Given the description of an element on the screen output the (x, y) to click on. 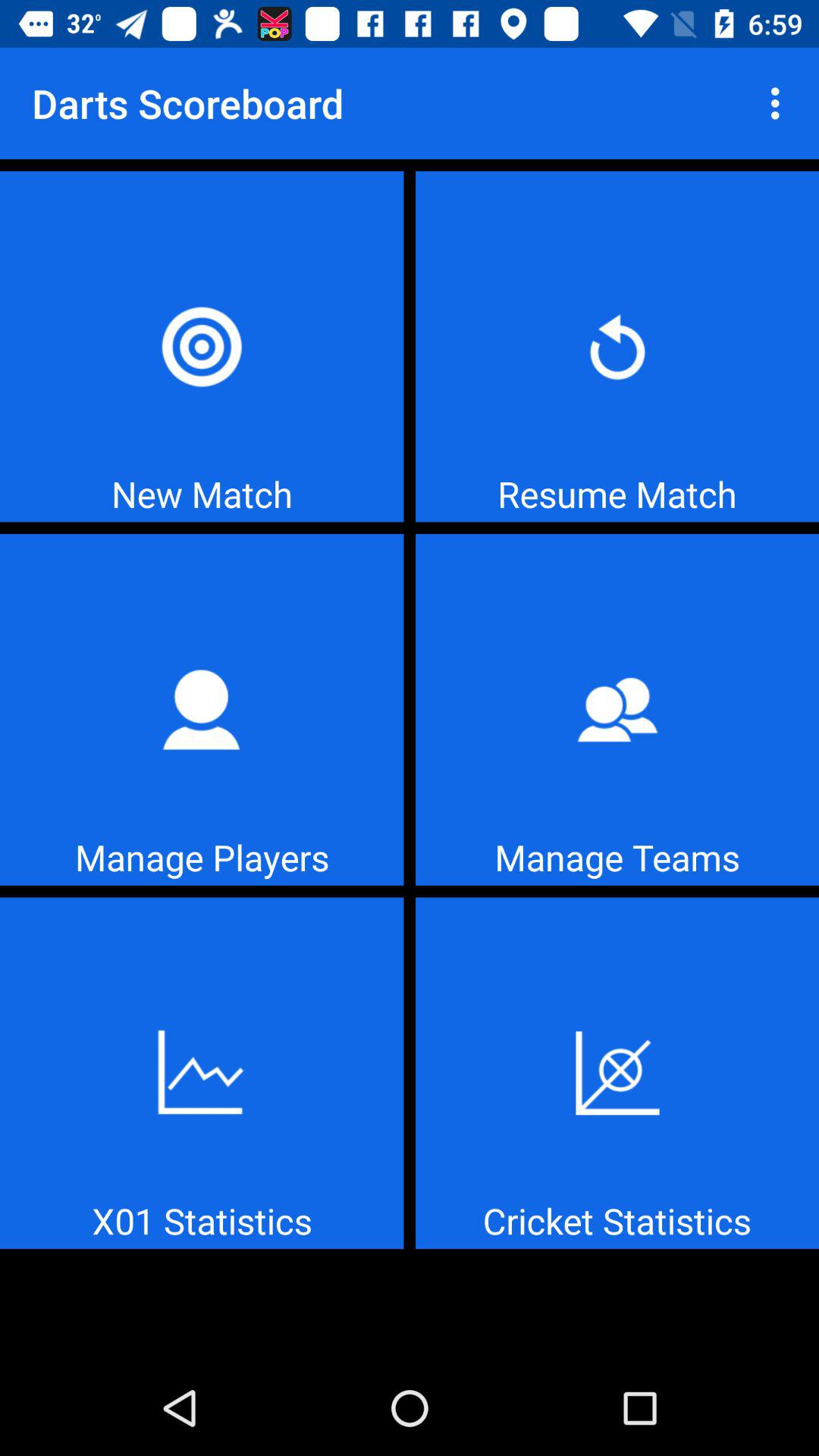
tap x01 statistics icon (201, 1072)
